Given the description of an element on the screen output the (x, y) to click on. 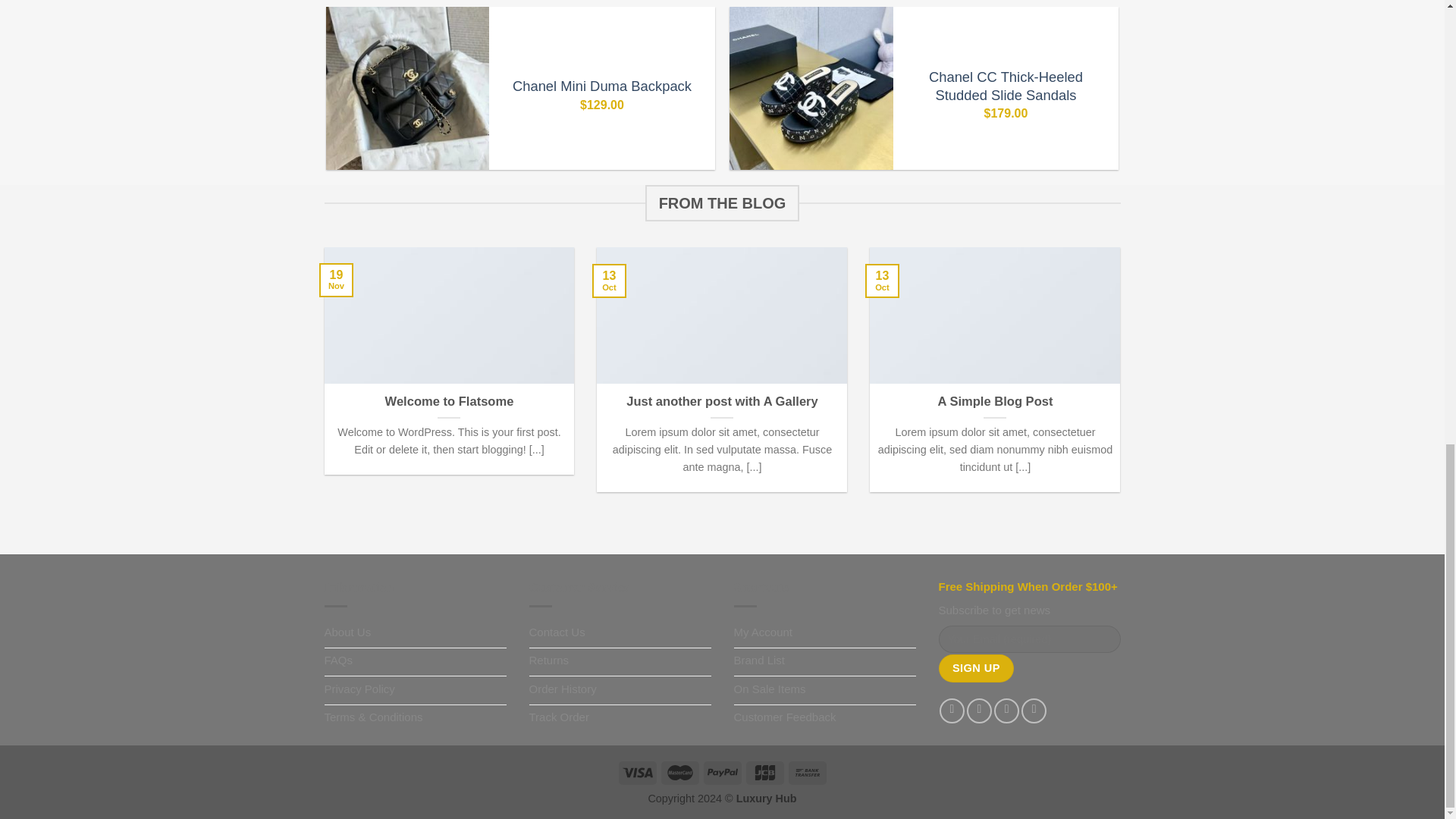
Follow on Facebook (951, 710)
Send us an email (1034, 710)
Chanel Mini Duma Backpack (601, 85)
Follow on Twitter (1006, 710)
Follow on Instagram (978, 710)
Sign Up (976, 668)
